Given the description of an element on the screen output the (x, y) to click on. 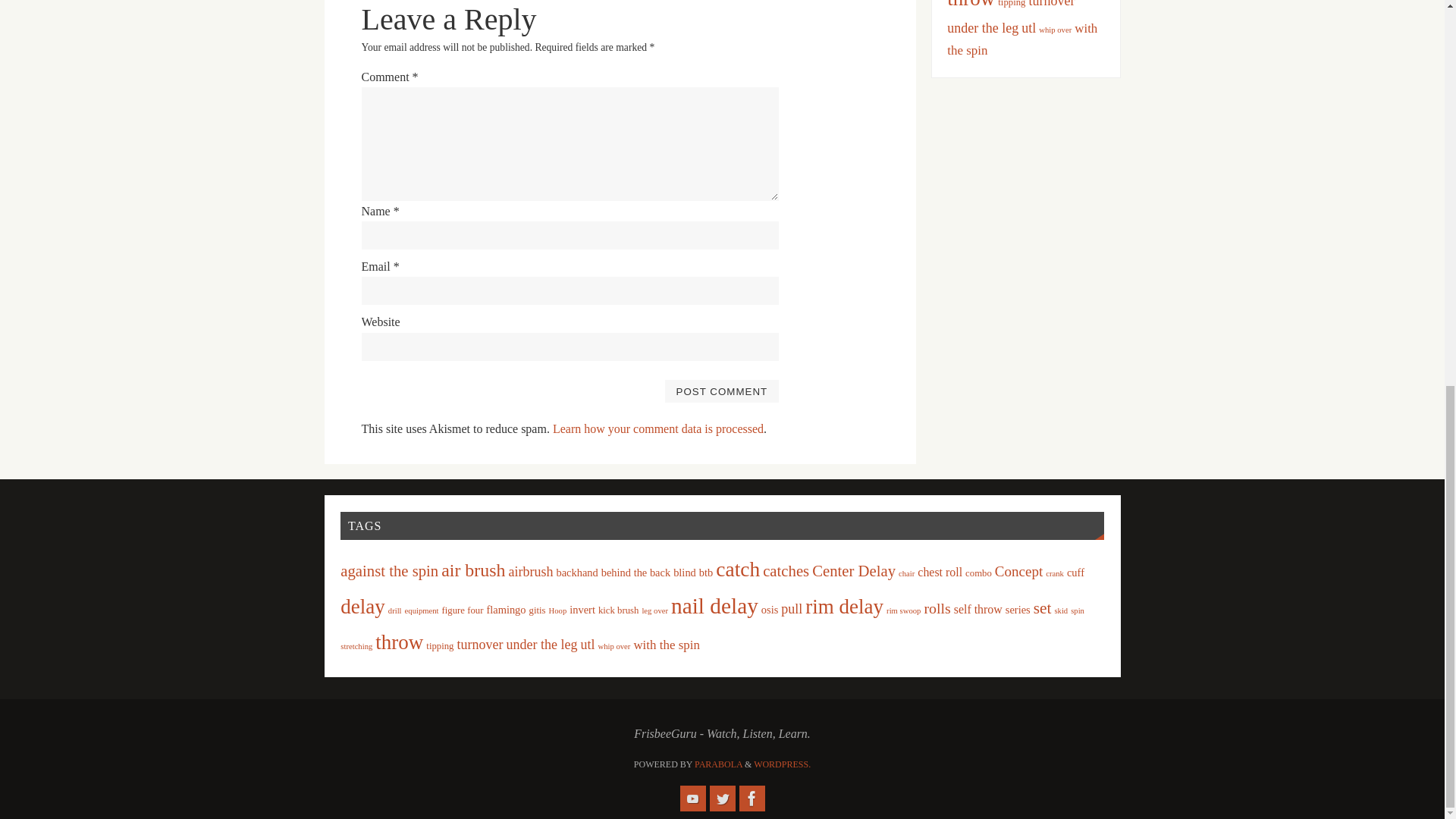
Learn how your comment data is processed (657, 428)
Twitter (722, 798)
YouTube (691, 798)
Parabola Theme by Cryout Creations (718, 764)
Post Comment (721, 391)
Semantic Personal Publishing Platform (782, 764)
Facebook (751, 798)
Post Comment (721, 391)
